Given the description of an element on the screen output the (x, y) to click on. 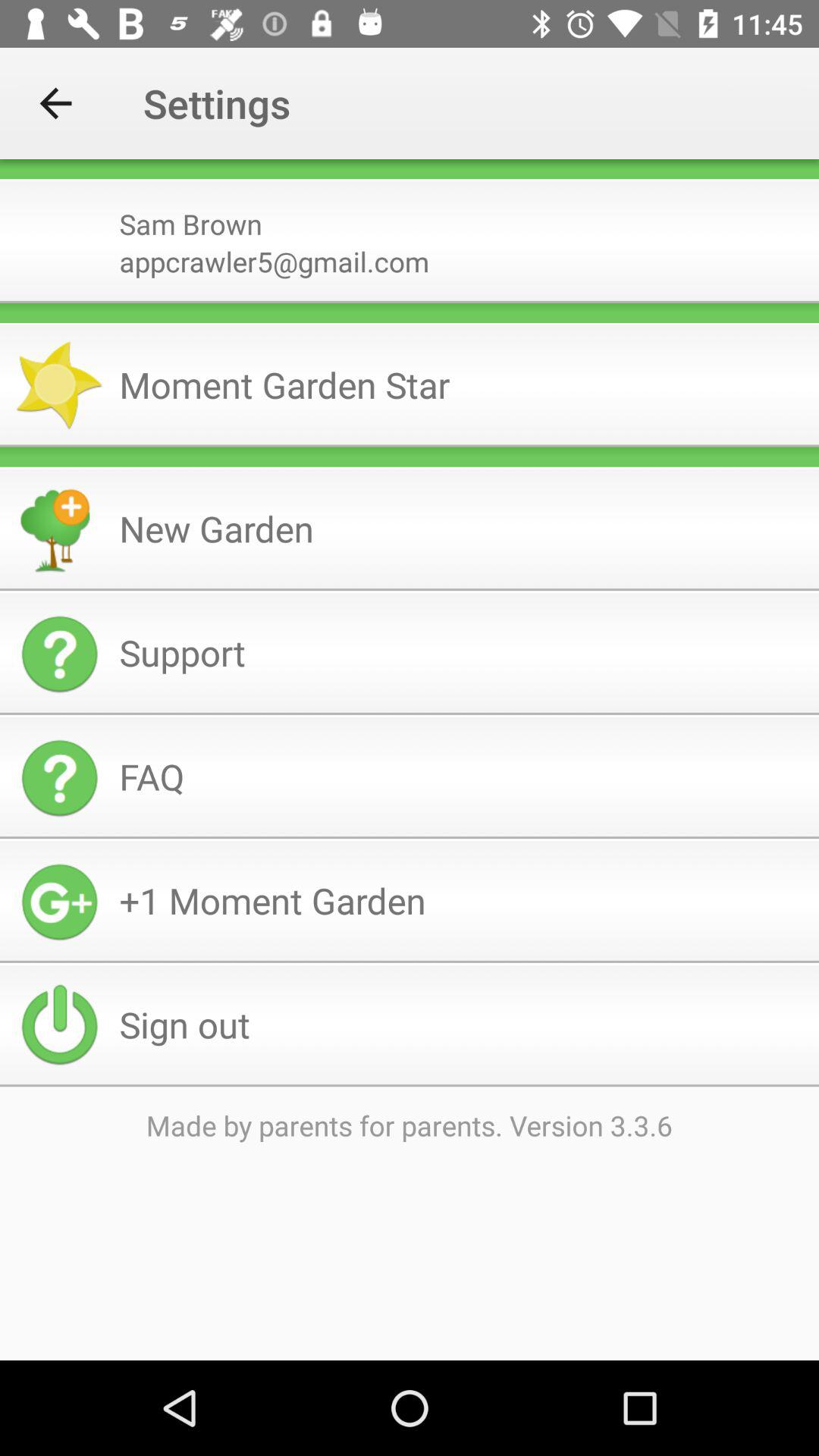
turn off item (409, 456)
